Given the description of an element on the screen output the (x, y) to click on. 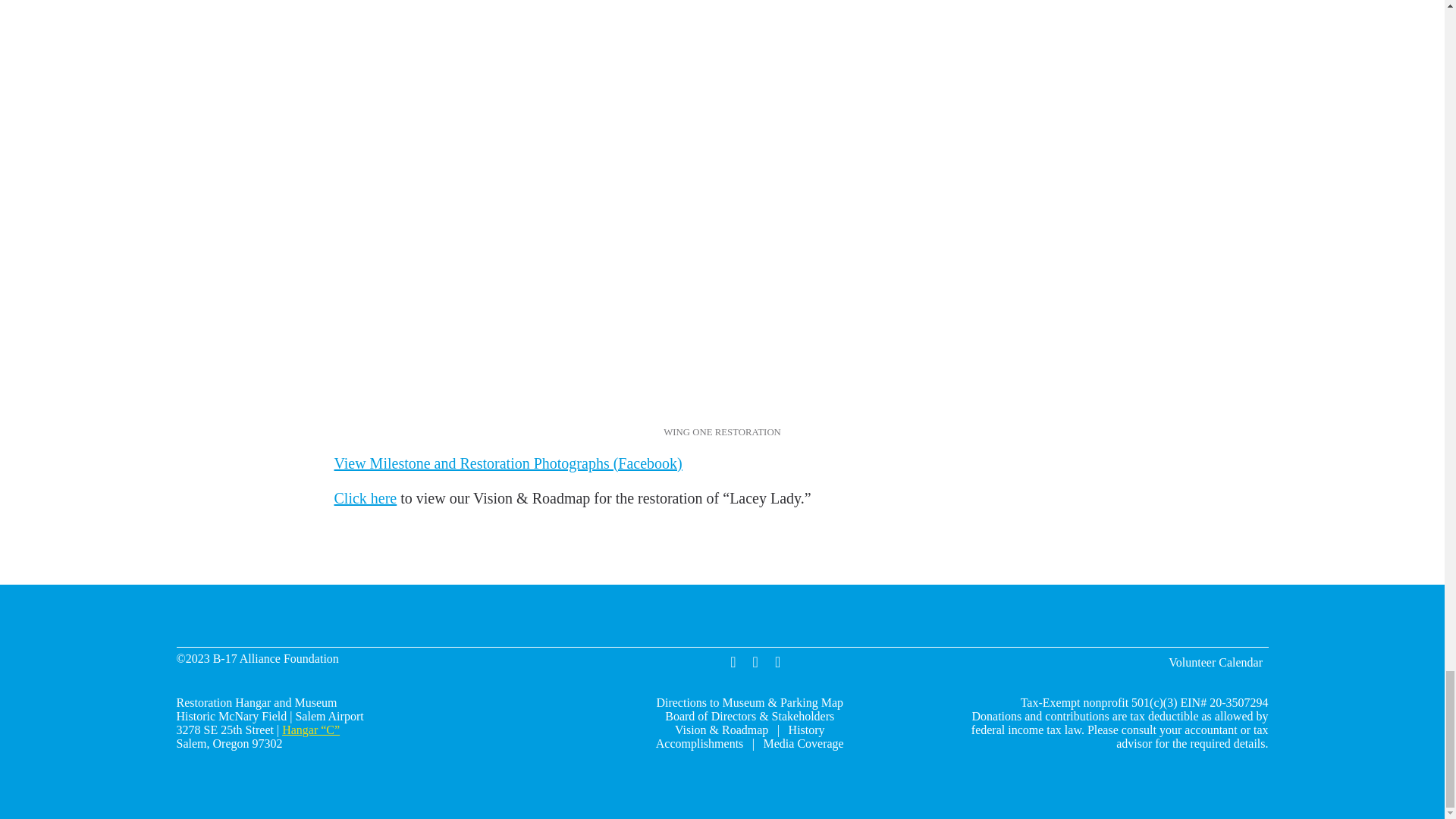
Media Coverage (803, 743)
Click here (364, 497)
Accomplishments (701, 743)
History (807, 729)
Volunteer Calendar (1215, 662)
